Given the description of an element on the screen output the (x, y) to click on. 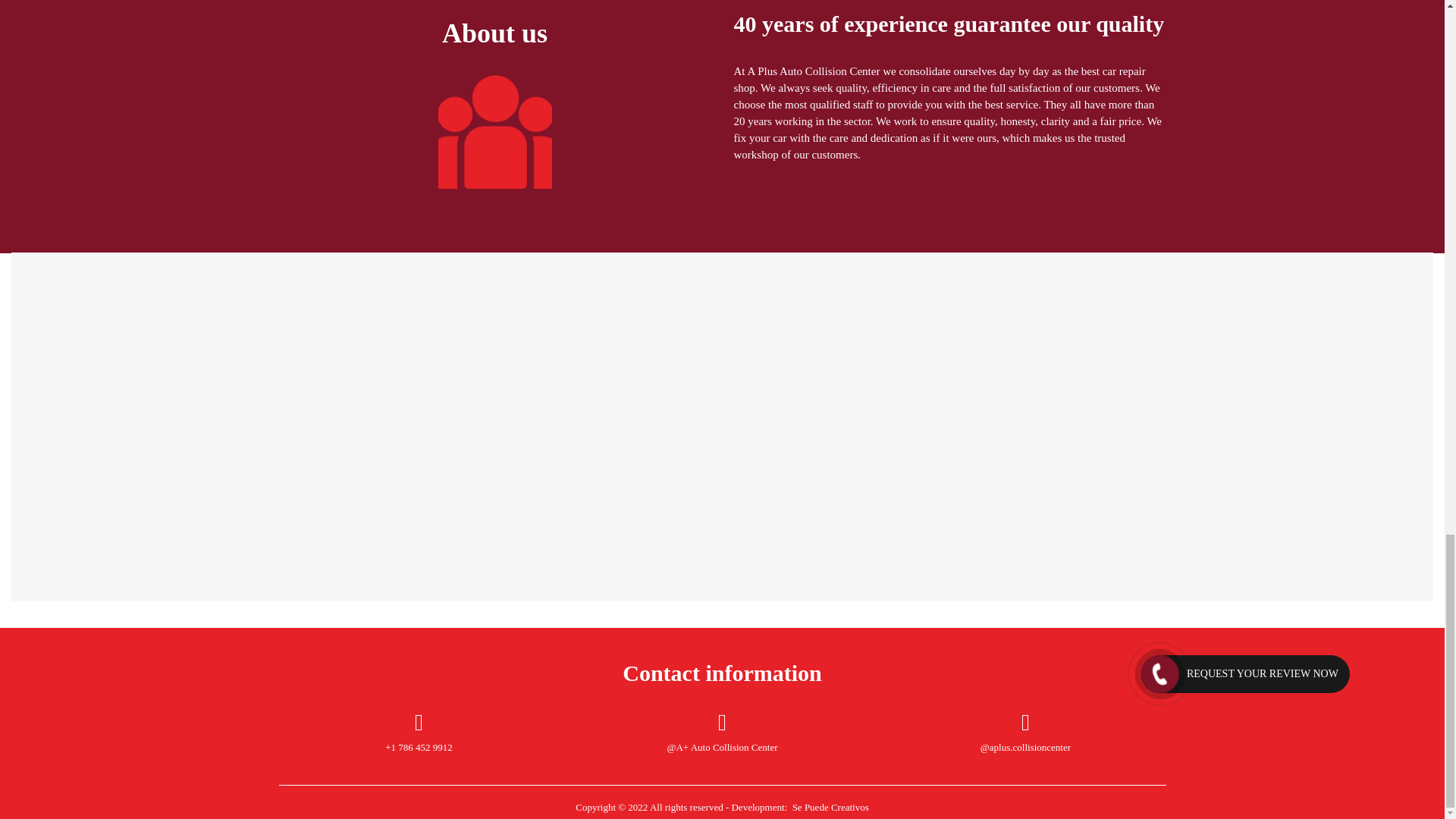
Recurso 14 (494, 132)
Se Puede Creativos (828, 807)
